Given the description of an element on the screen output the (x, y) to click on. 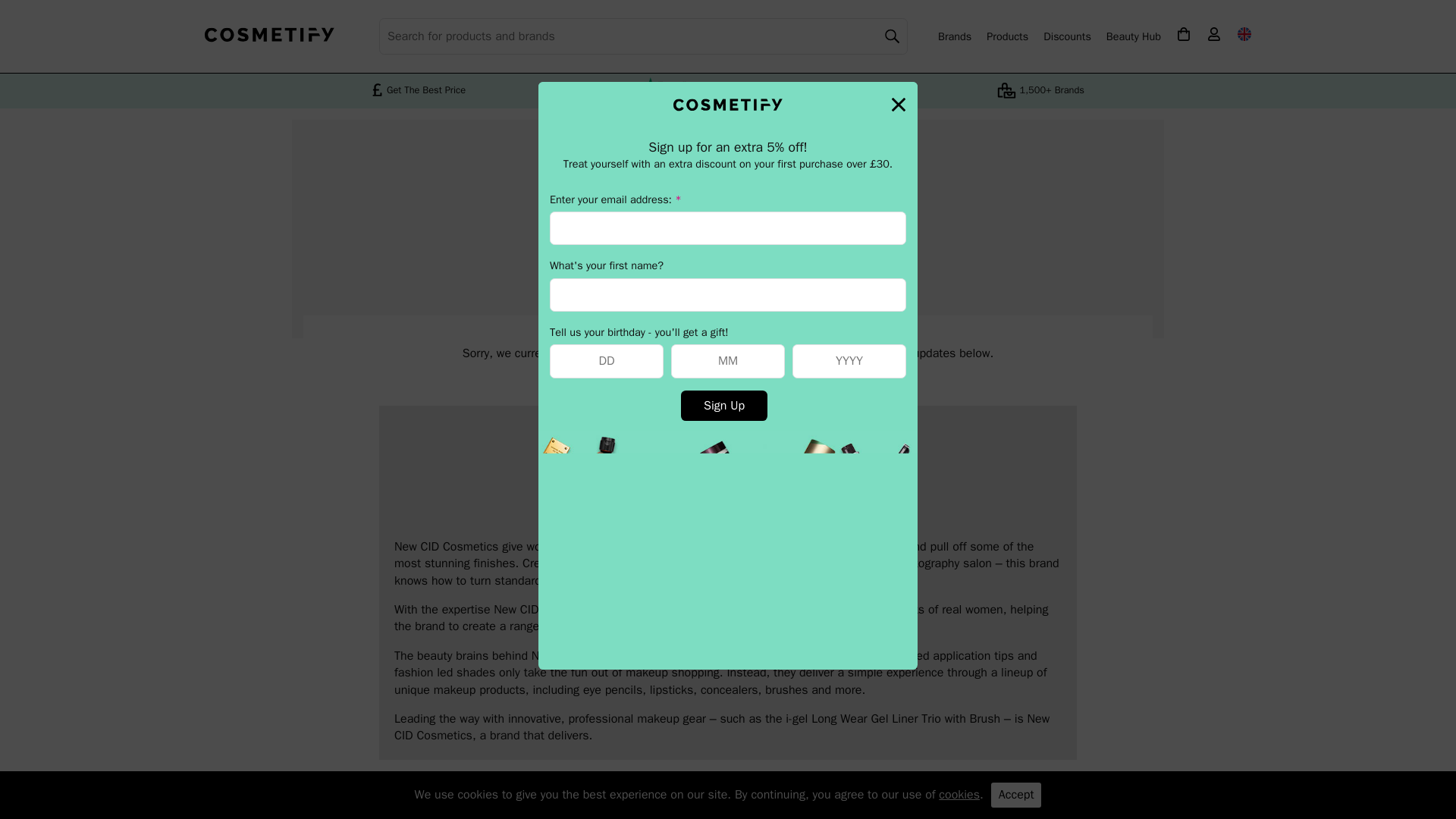
Products (1007, 36)
Brands (954, 36)
Discounts (1066, 36)
cookies (959, 794)
Accept (1016, 794)
Beauty Hub (1133, 36)
